Given the description of an element on the screen output the (x, y) to click on. 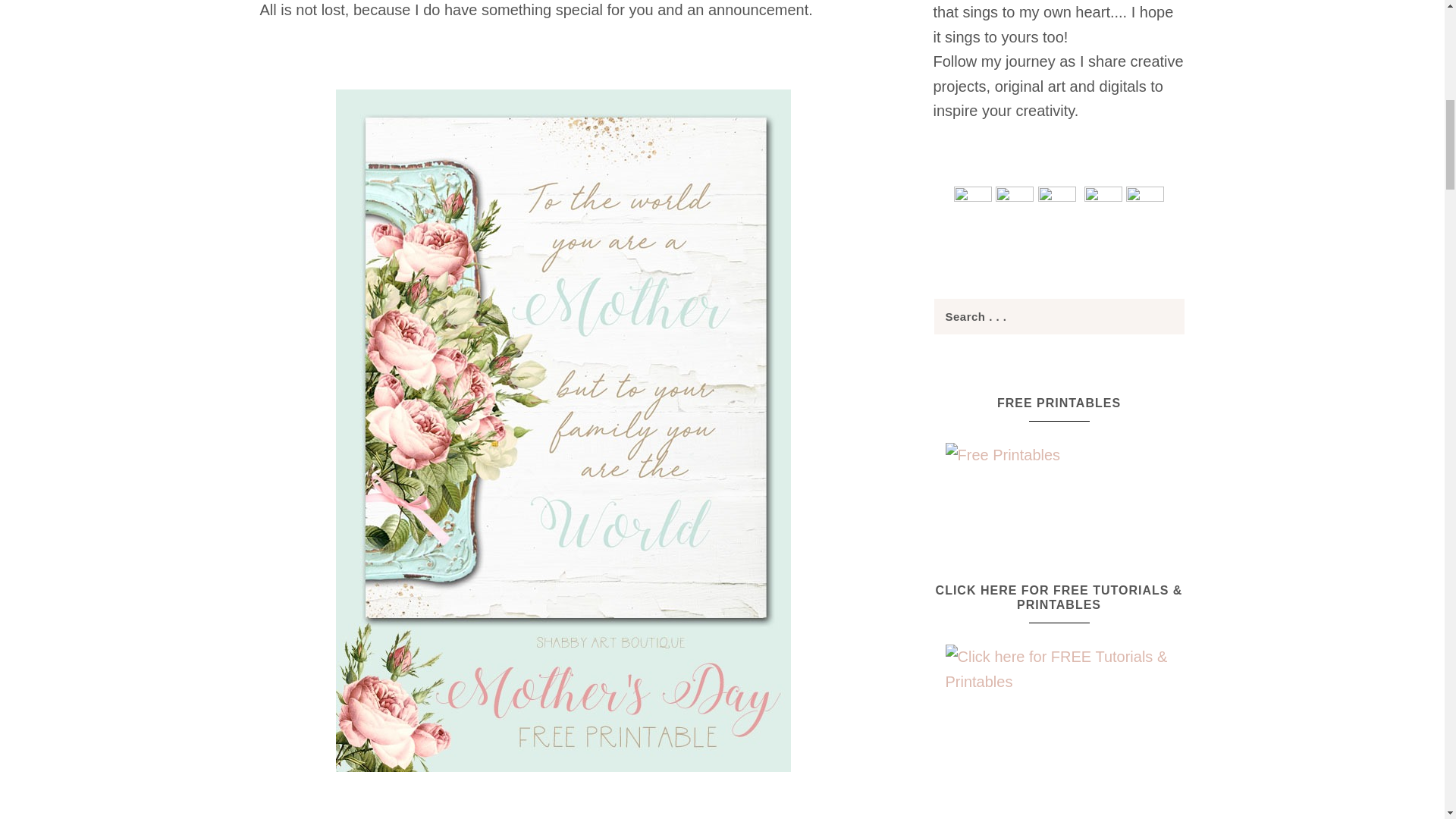
Free Printables (1059, 473)
